Given the description of an element on the screen output the (x, y) to click on. 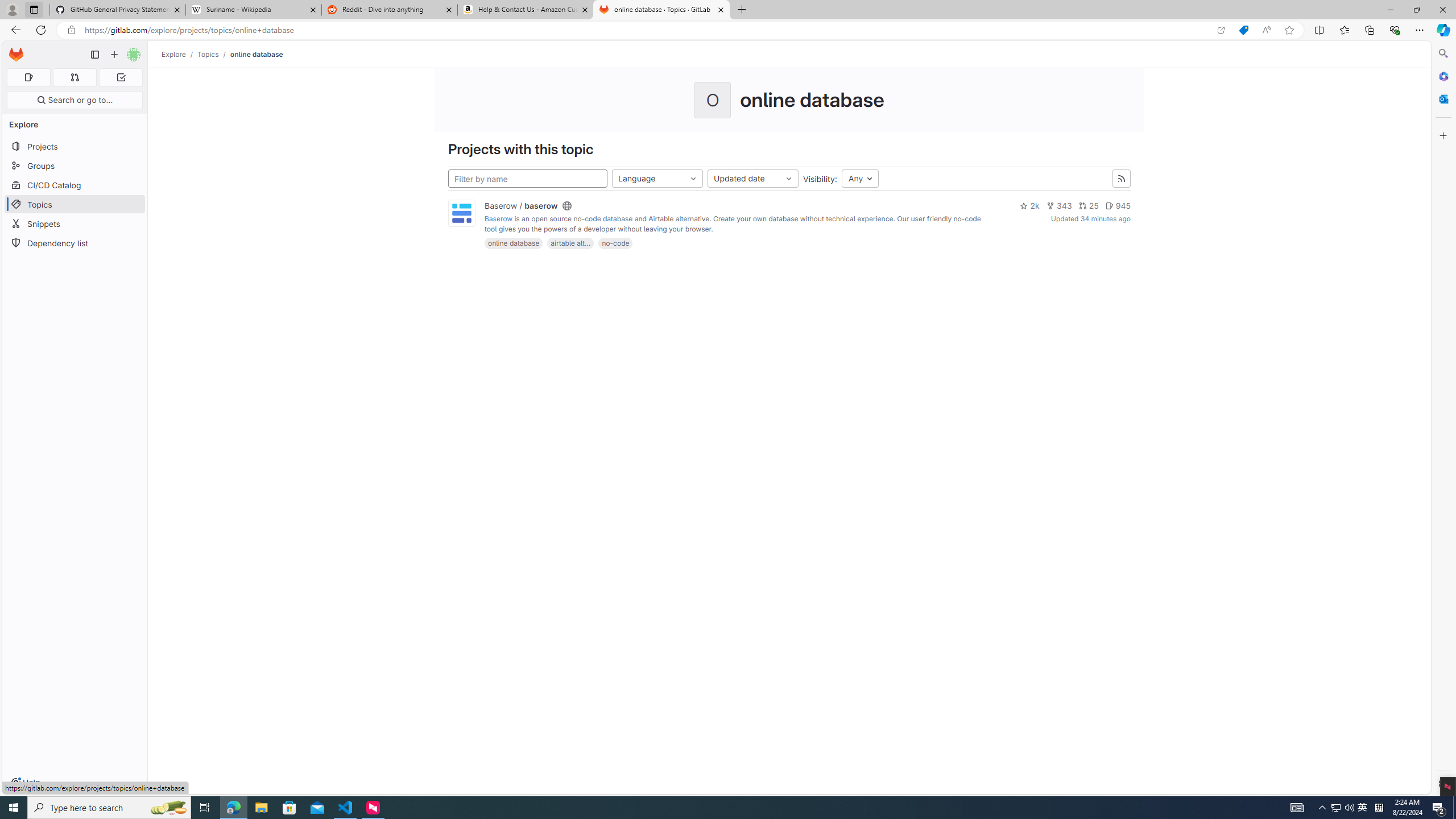
Address and search bar (647, 29)
Explore (173, 53)
To-Do list 0 (120, 76)
Customize (1442, 135)
online database (256, 53)
Updated date (752, 178)
online database (513, 243)
Dependency list (74, 242)
airtable alt... (570, 243)
Merge requests 0 (74, 76)
Dependency list (74, 242)
